Given the description of an element on the screen output the (x, y) to click on. 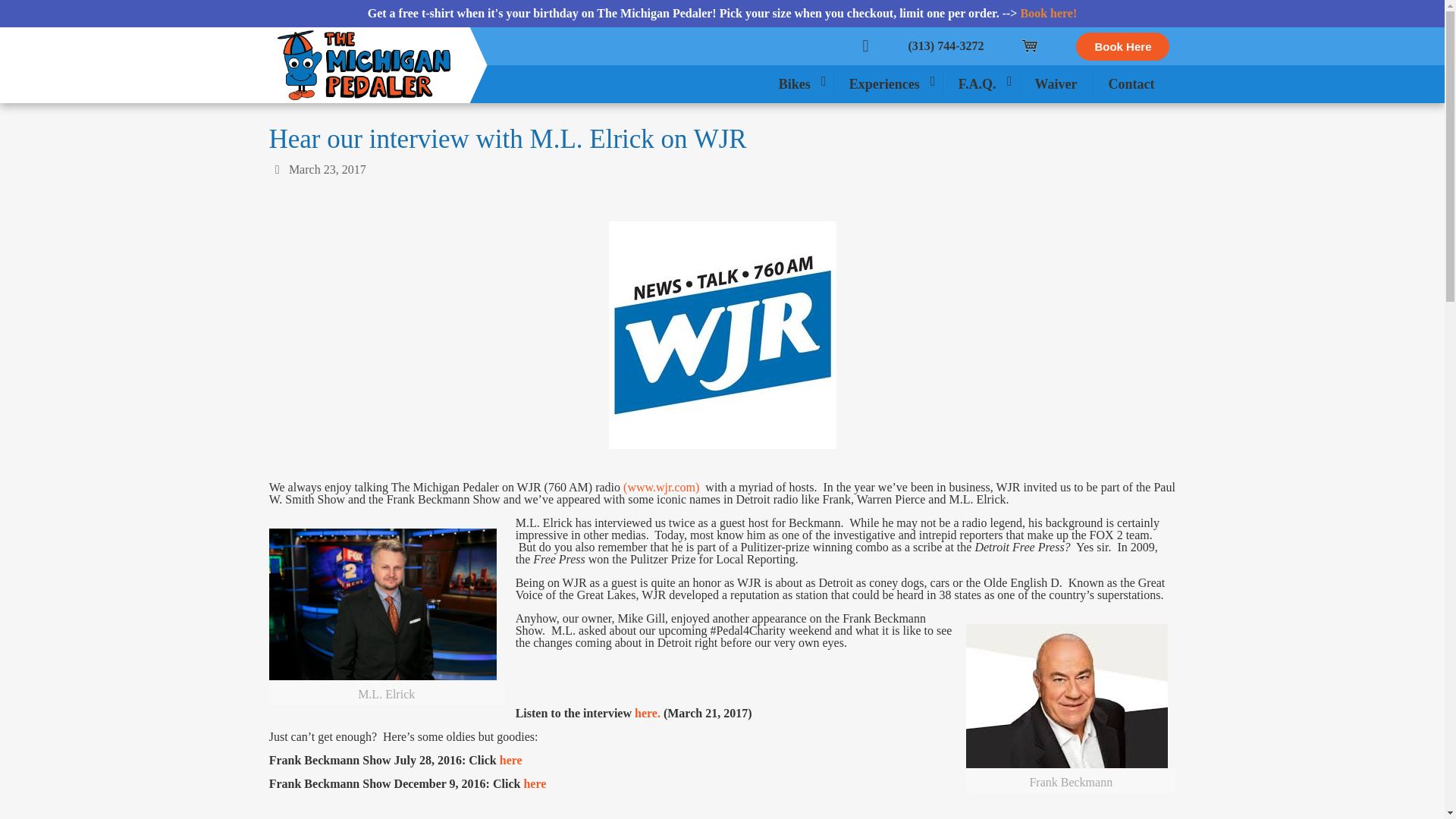
Book here! (1048, 12)
Waiver (1056, 84)
Contact (1131, 84)
Experiences (888, 84)
F.A.Q. (981, 84)
Bikes (798, 84)
Book Here (1122, 45)
